Given the description of an element on the screen output the (x, y) to click on. 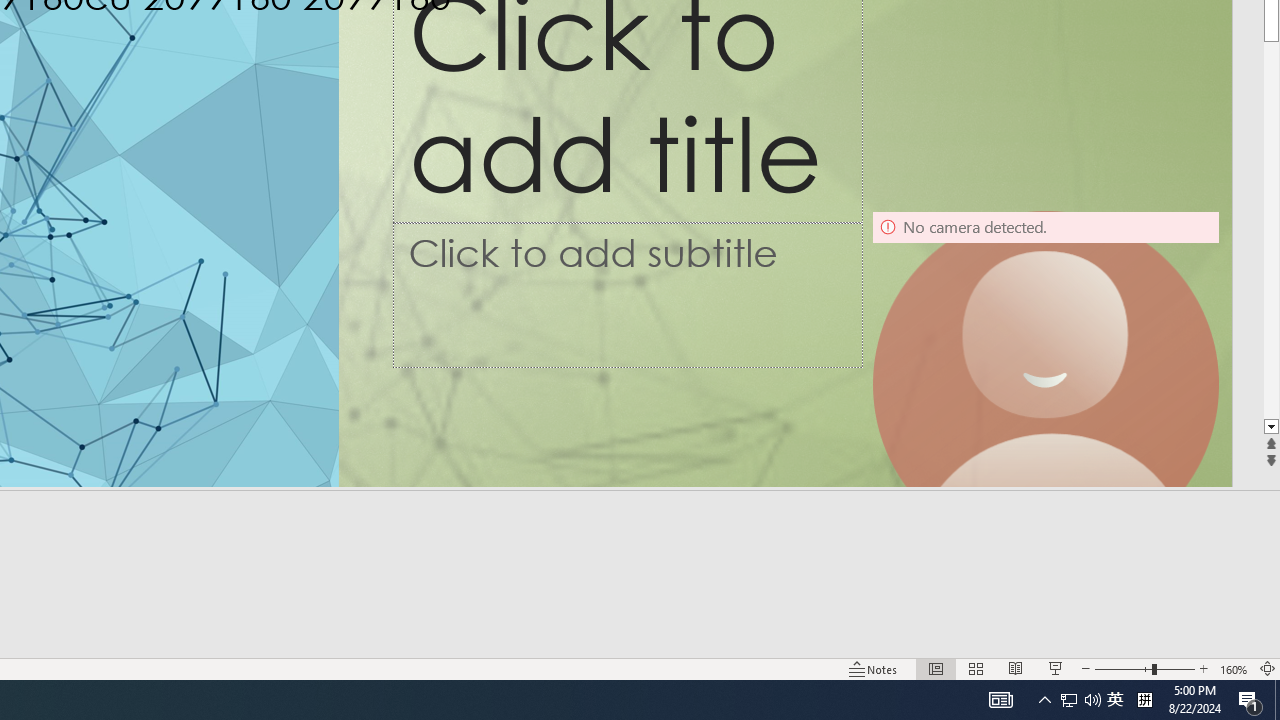
Camera 9, No camera detected. (1045, 384)
Zoom 160% (1234, 668)
Subtitle TextBox (627, 294)
